Given the description of an element on the screen output the (x, y) to click on. 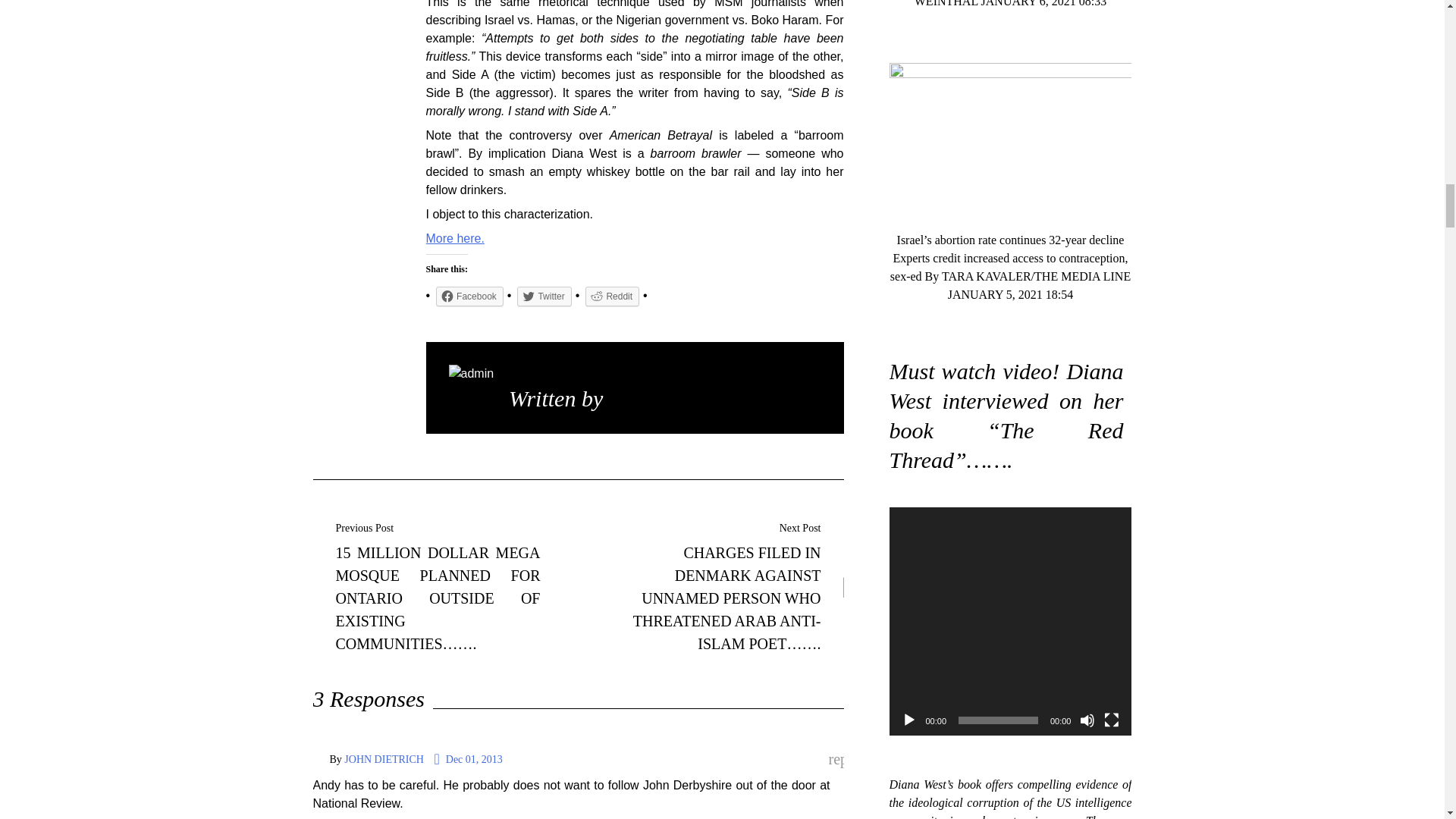
Click to share on Facebook (469, 296)
Click to share on Twitter (543, 296)
JOHN DIETRICH (383, 758)
Twitter (543, 296)
Reddit (612, 296)
Posts by KGS (630, 398)
KGS (630, 398)
Facebook (469, 296)
More here. (455, 237)
Play (908, 720)
Click to share on Reddit (612, 296)
Mute (1087, 720)
Dec 01, 2013 (467, 759)
reply (835, 759)
